Given the description of an element on the screen output the (x, y) to click on. 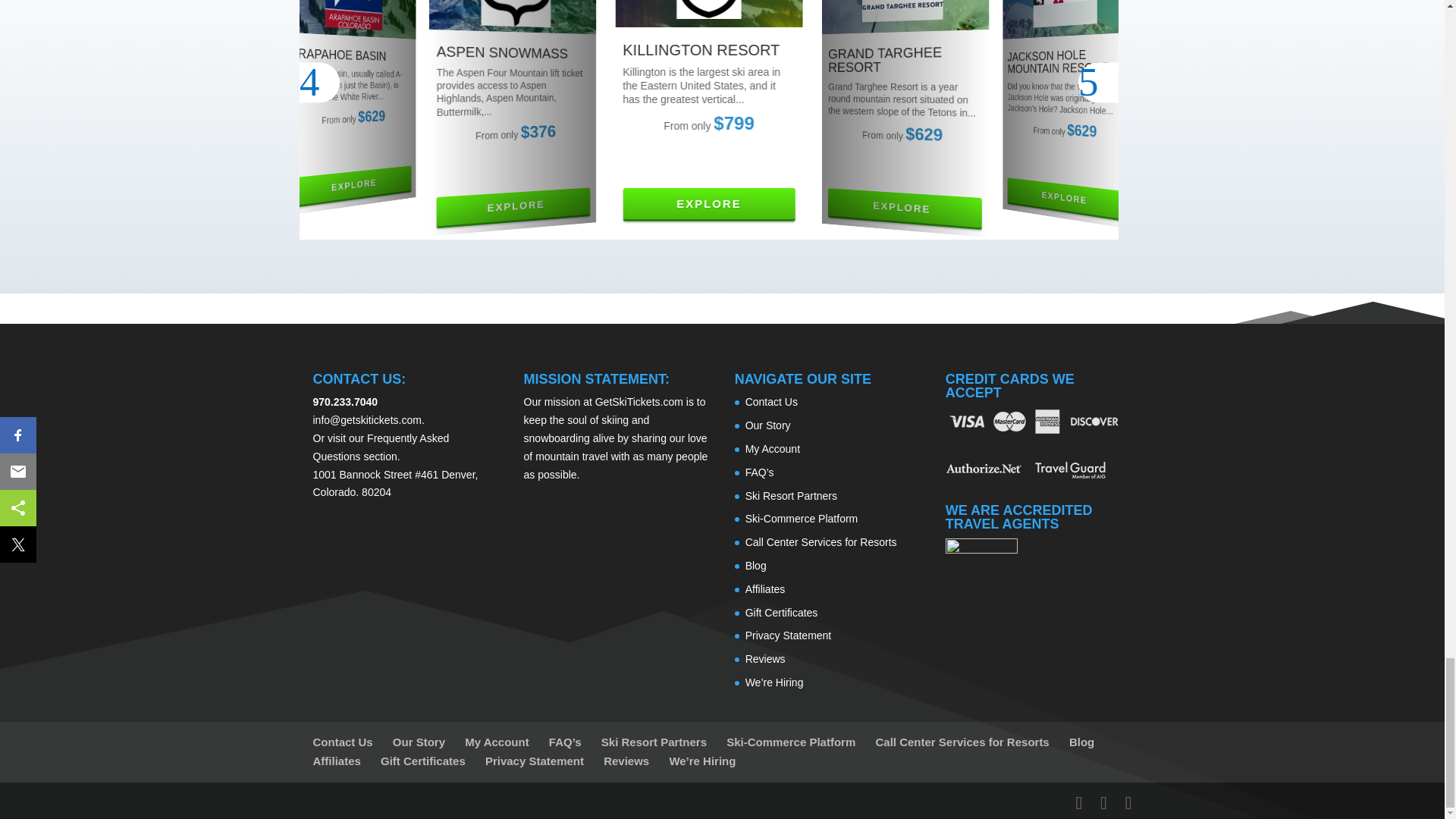
Ski Resort Partners (791, 495)
My Account (772, 449)
Frequently Asked Questions (380, 447)
Gift Certificates (781, 612)
Blog (756, 565)
Affiliates (765, 589)
Ski-Commerce Platform (802, 518)
Our Story (767, 425)
Call Center Services for Resorts (820, 541)
Contact Us (771, 401)
